Given the description of an element on the screen output the (x, y) to click on. 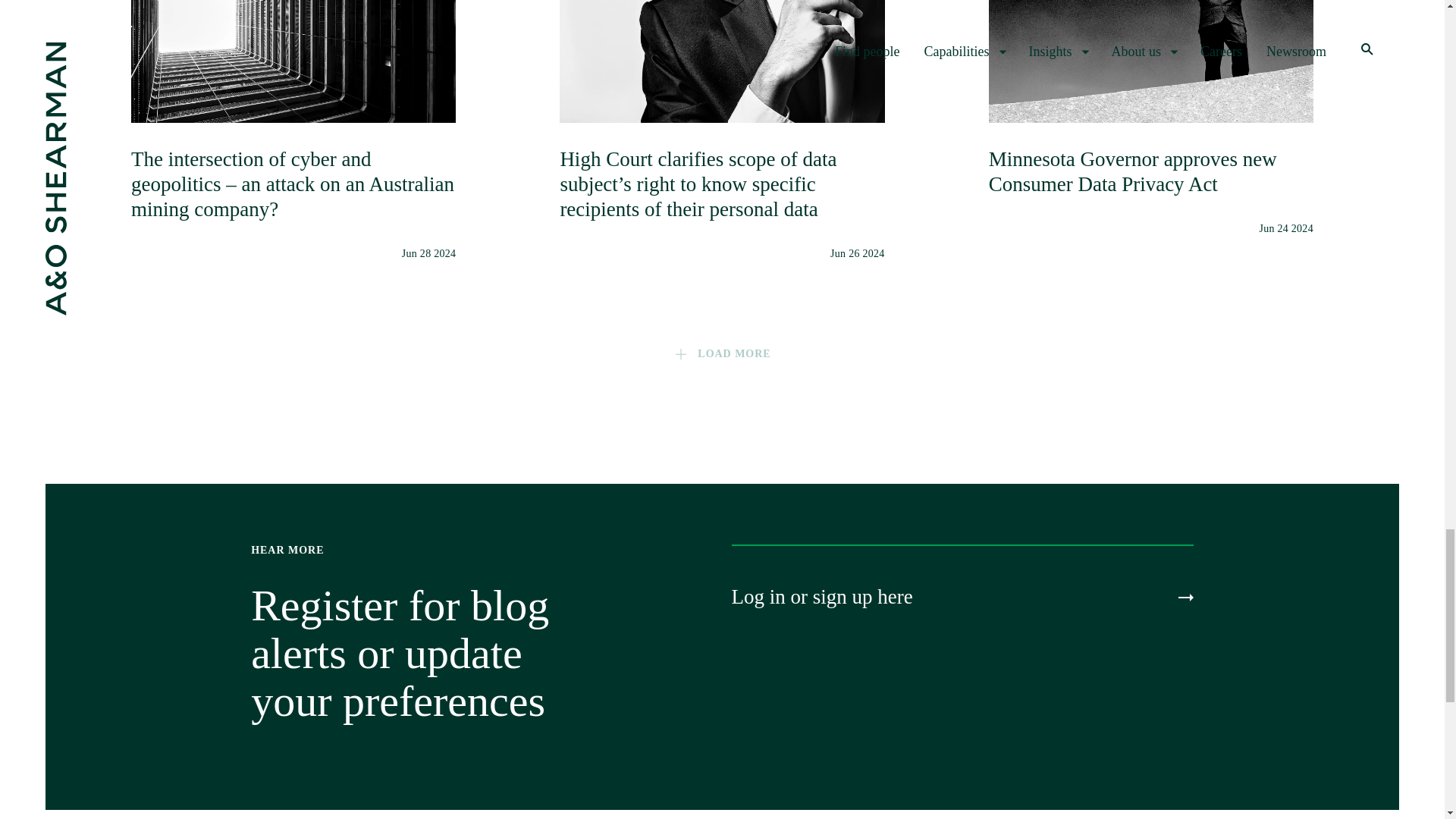
Log in or sign up here (961, 596)
LOAD MORE (721, 353)
